Given the description of an element on the screen output the (x, y) to click on. 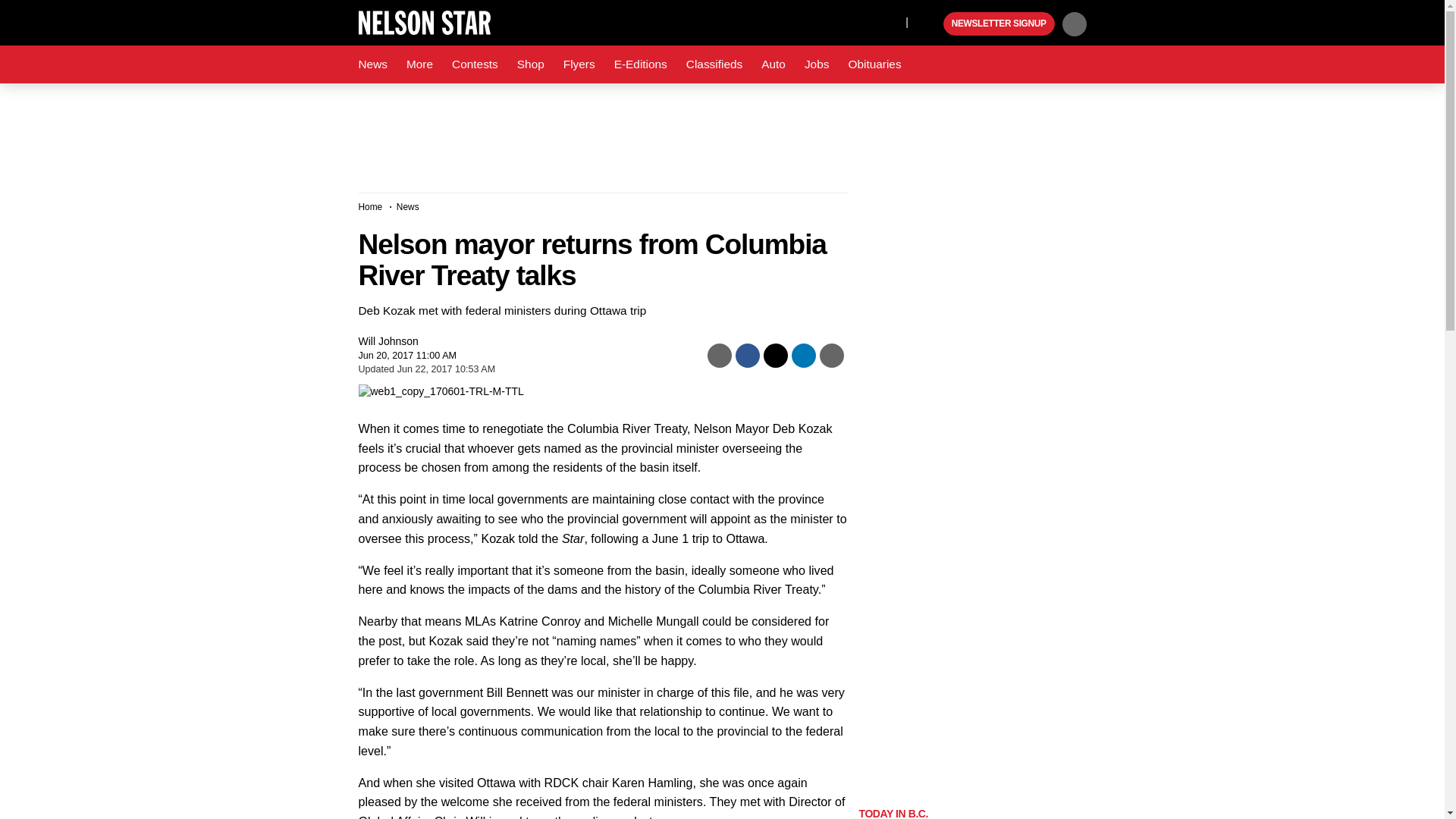
X (889, 21)
Black Press Media (929, 24)
News (372, 64)
Play (929, 24)
NEWSLETTER SIGNUP (998, 24)
